Given the description of an element on the screen output the (x, y) to click on. 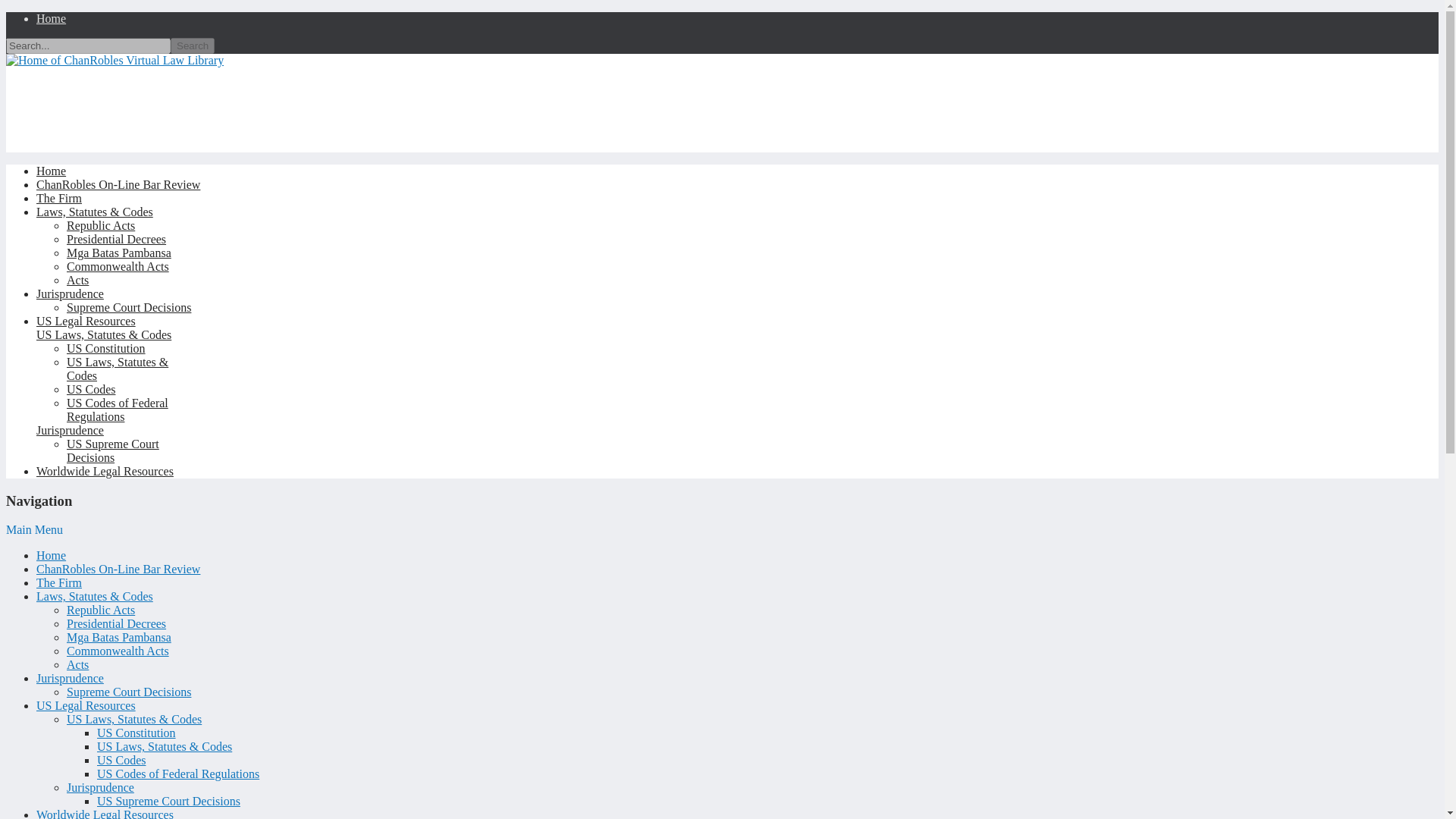
Commonwealth Acts (117, 266)
ChanRobles On-Line Bar Review (118, 568)
Jurisprudence (69, 677)
ChanRobles On-Line Bar Review (118, 184)
Commonwealth Acts (117, 266)
ChanRobles On-Line Bar Review (118, 184)
Acts (77, 279)
Home of ChanRobles Virtual Law Library (114, 60)
Republic Acts (100, 609)
Search... (87, 45)
The Firm (58, 197)
Republic Acts (100, 225)
Presidential Decrees (115, 238)
US Constitution (105, 348)
Jurisprudence (69, 293)
